Given the description of an element on the screen output the (x, y) to click on. 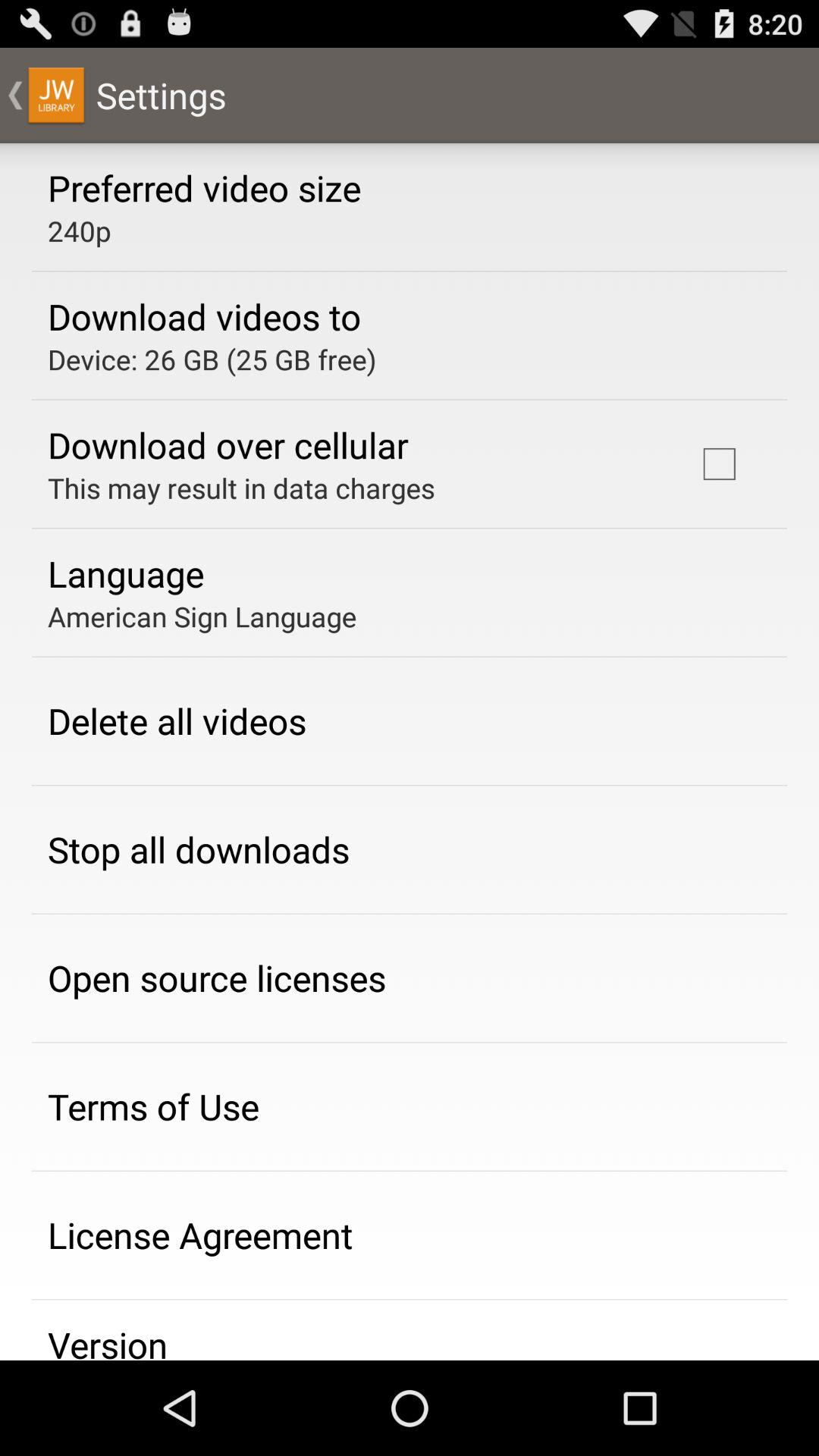
swipe to 240p app (78, 230)
